Given the description of an element on the screen output the (x, y) to click on. 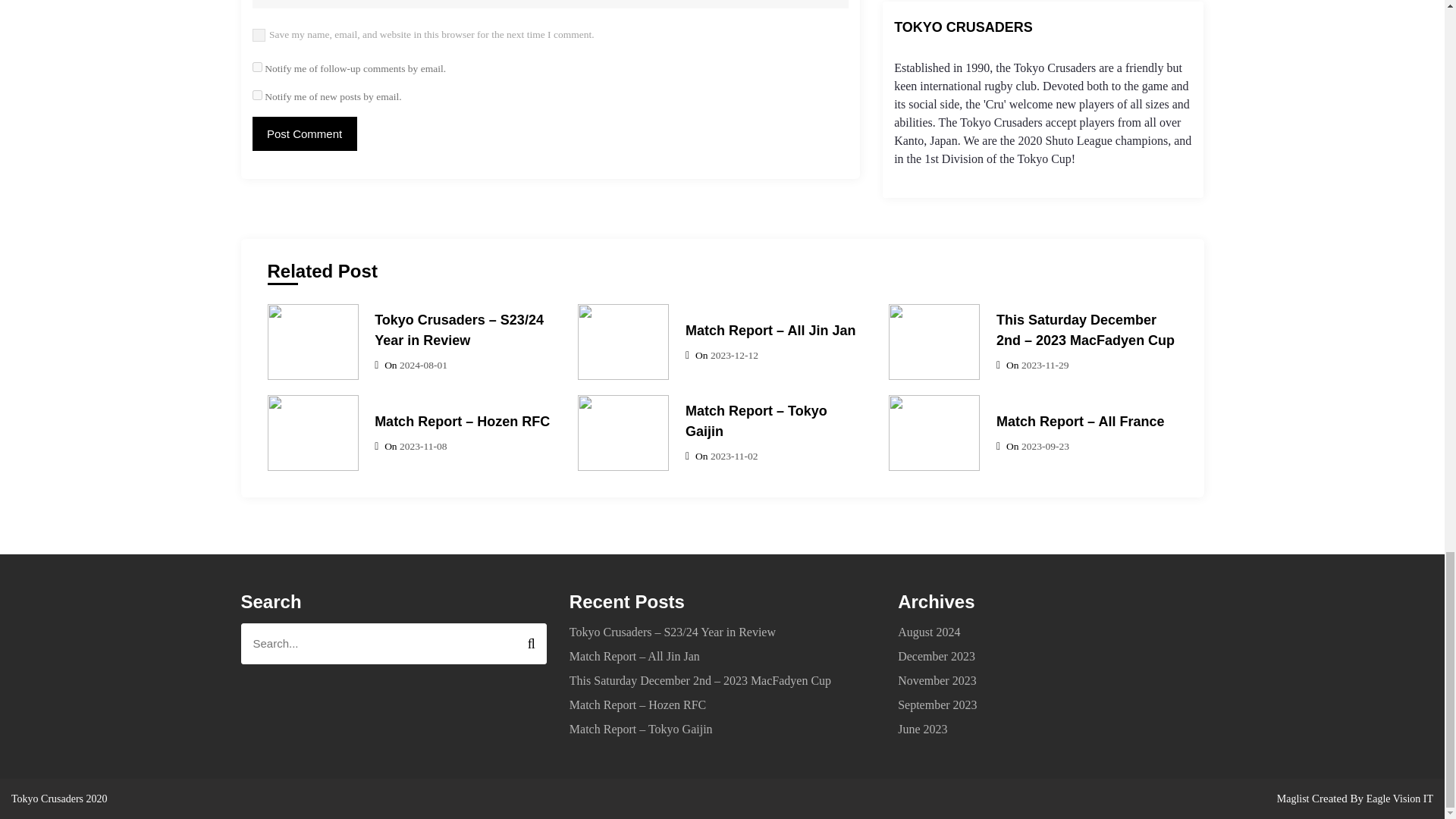
Post Comment (303, 132)
subscribe (256, 66)
subscribe (256, 94)
